Given the description of an element on the screen output the (x, y) to click on. 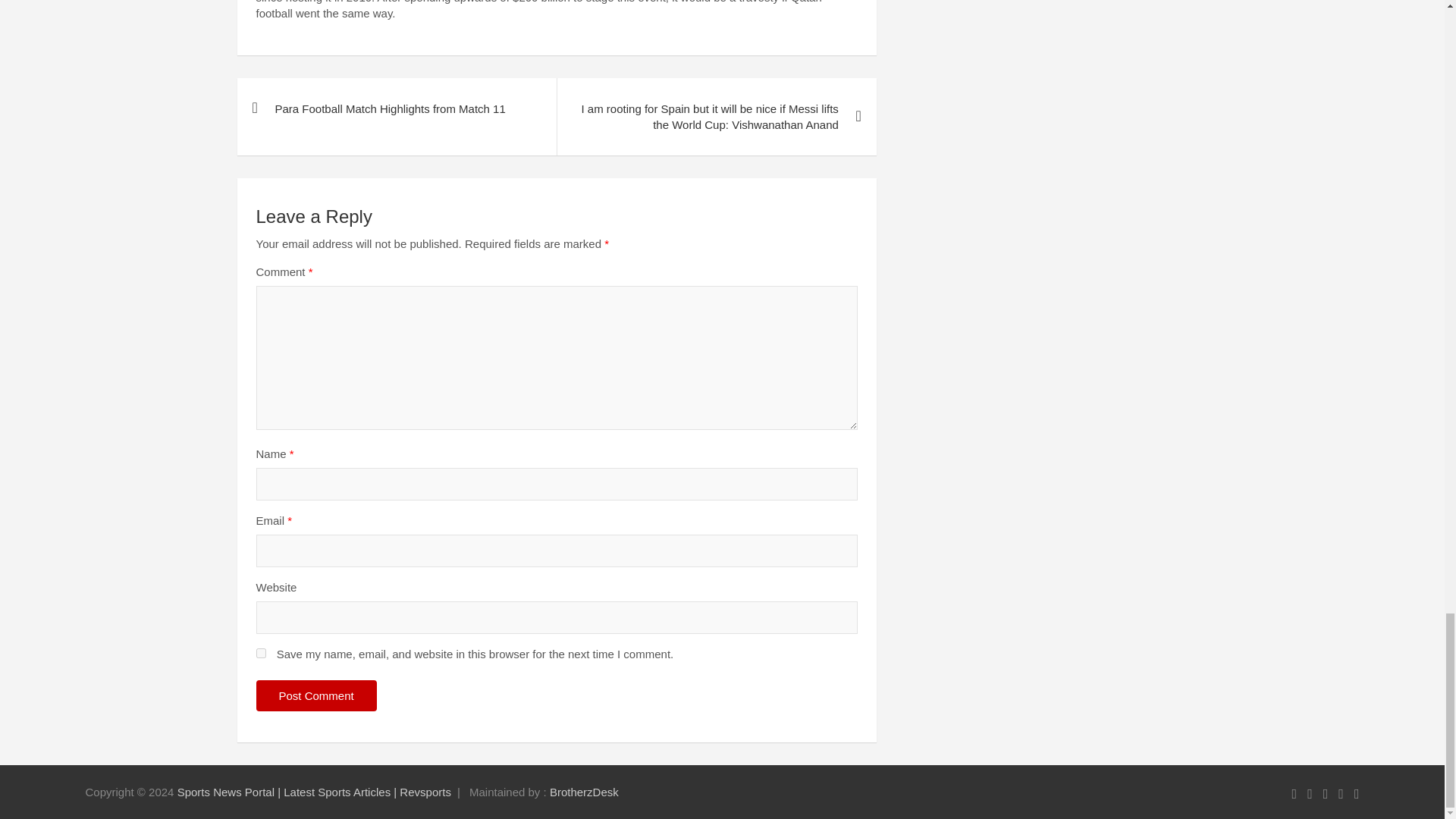
Post Comment (316, 695)
yes (261, 653)
